Given the description of an element on the screen output the (x, y) to click on. 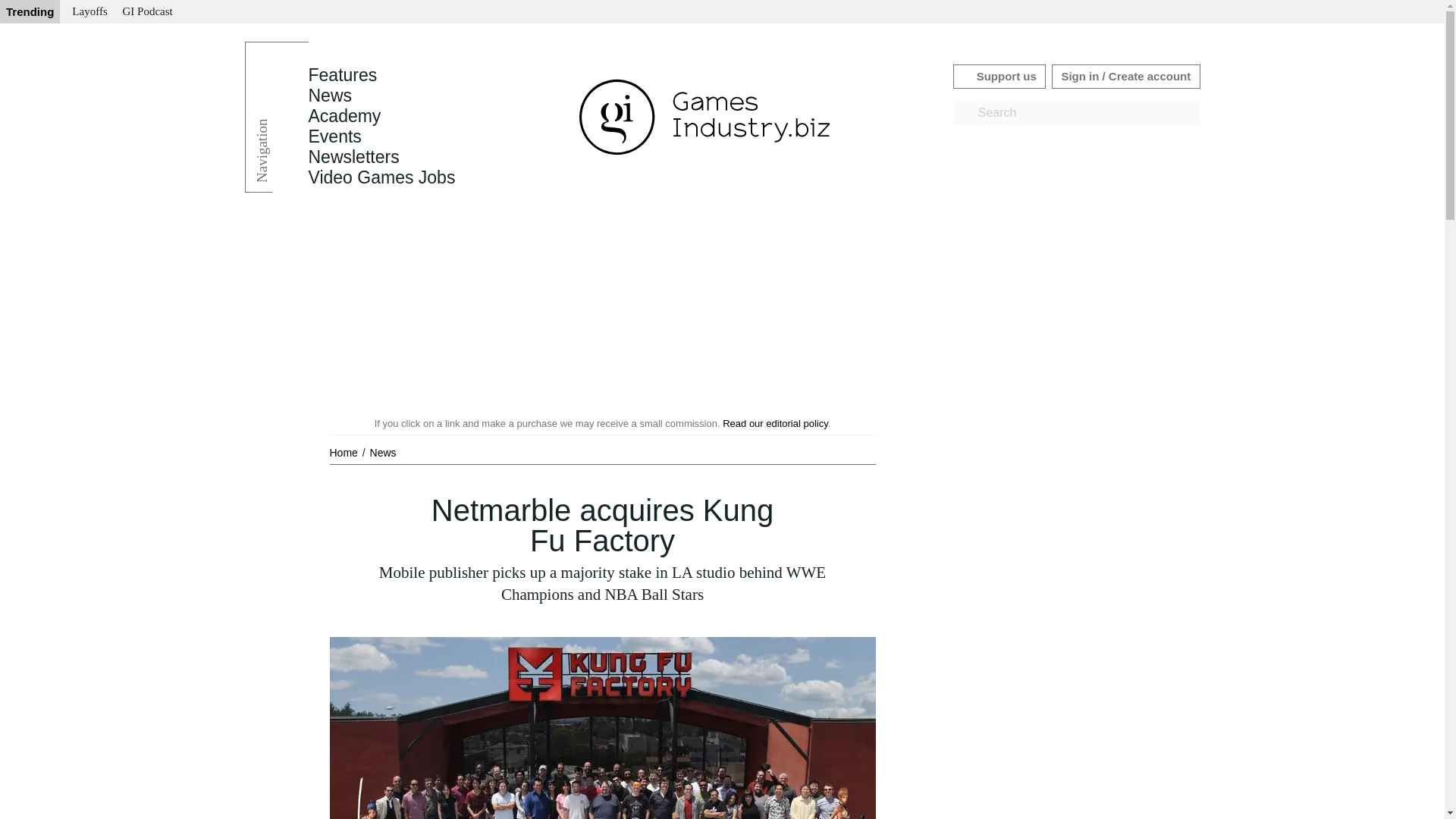
Events (334, 136)
Features (342, 75)
Layoffs (89, 11)
News (329, 95)
News (382, 452)
Read our editorial policy (775, 423)
News (382, 452)
Layoffs (89, 11)
Support us (999, 75)
Newsletters (352, 157)
